Given the description of an element on the screen output the (x, y) to click on. 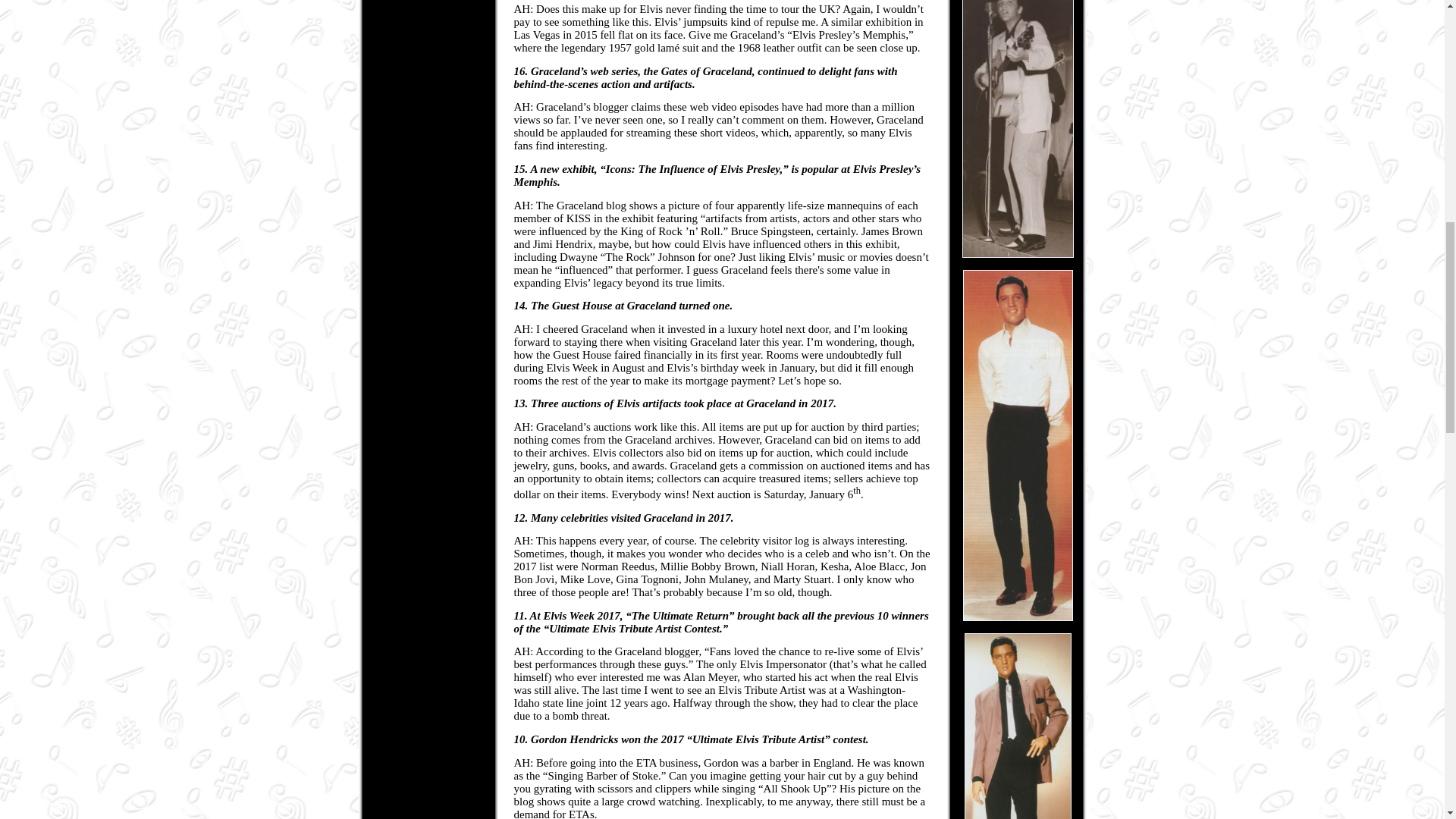
Elvis on state in 1954 (1018, 128)
